Given the description of an element on the screen output the (x, y) to click on. 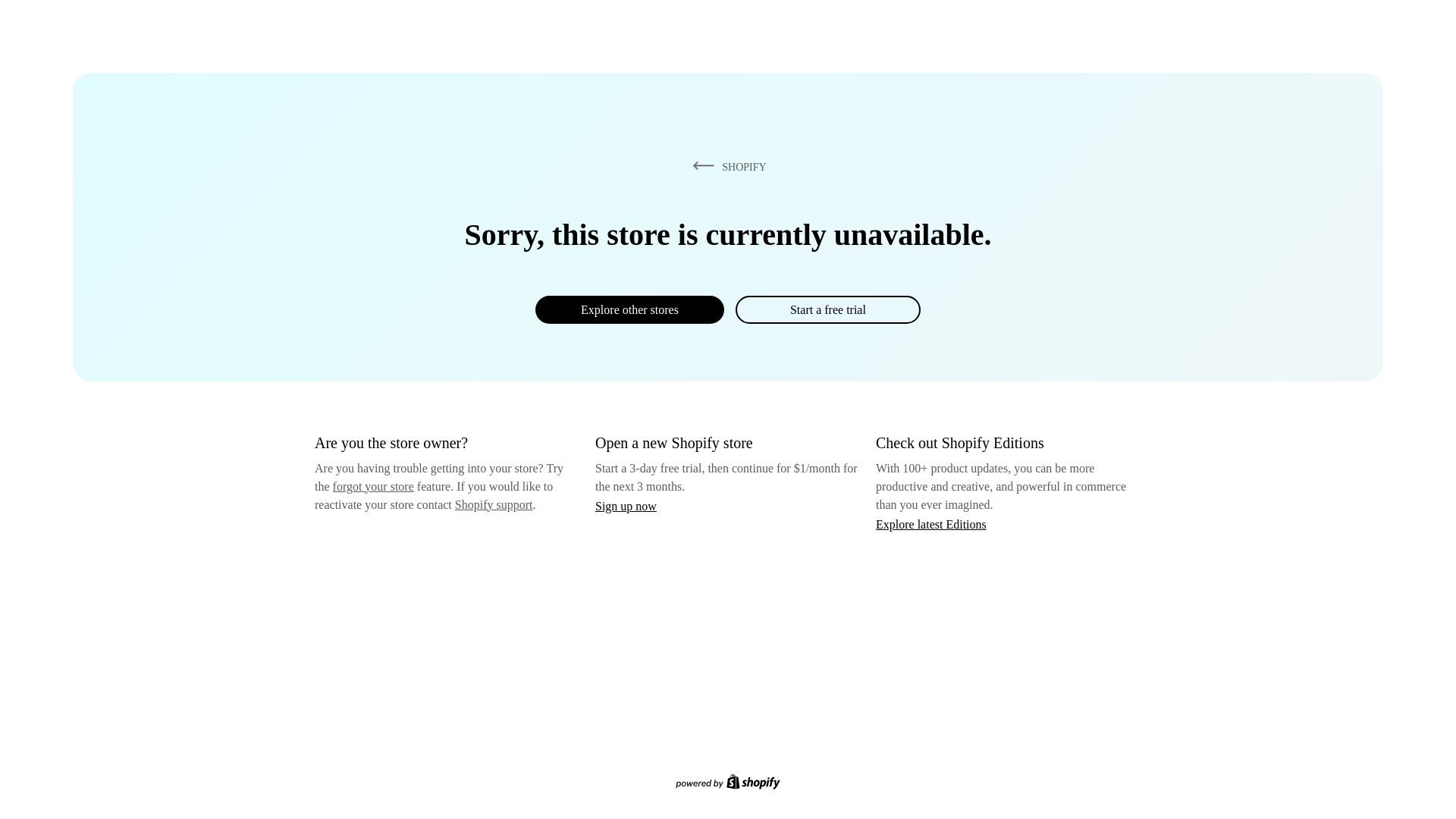
SHOPIFY (726, 166)
Start a free trial (827, 309)
forgot your store (373, 486)
Explore other stores (629, 309)
Explore latest Editions (931, 523)
Shopify support (493, 504)
Sign up now (625, 505)
